Given the description of an element on the screen output the (x, y) to click on. 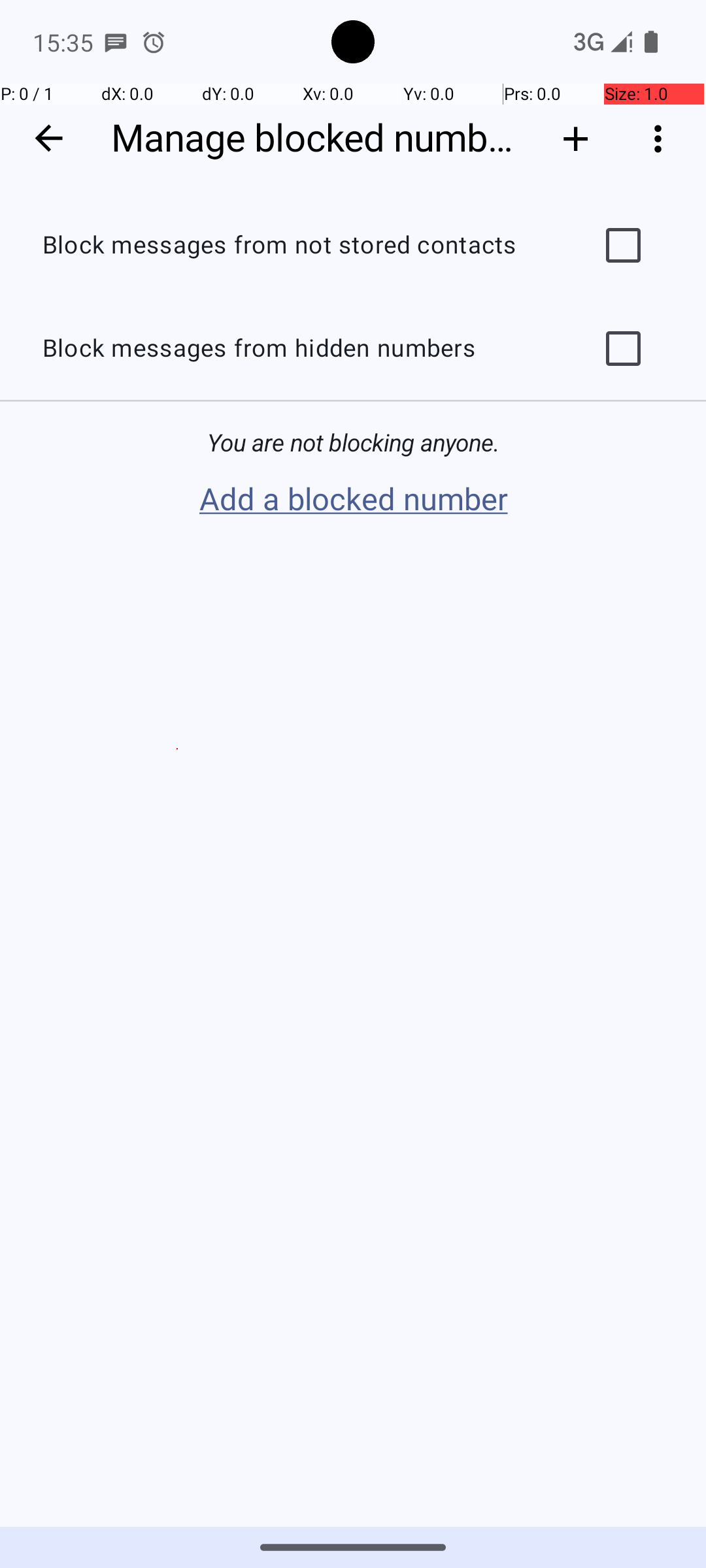
You are not blocking anyone. Element type: android.widget.TextView (352, 443)
Block messages from not stored contacts Element type: android.widget.TextView (297, 244)
Block messages from hidden numbers Element type: android.widget.TextView (297, 348)
Add a blocked number Element type: android.widget.TextView (352, 499)
